Given the description of an element on the screen output the (x, y) to click on. 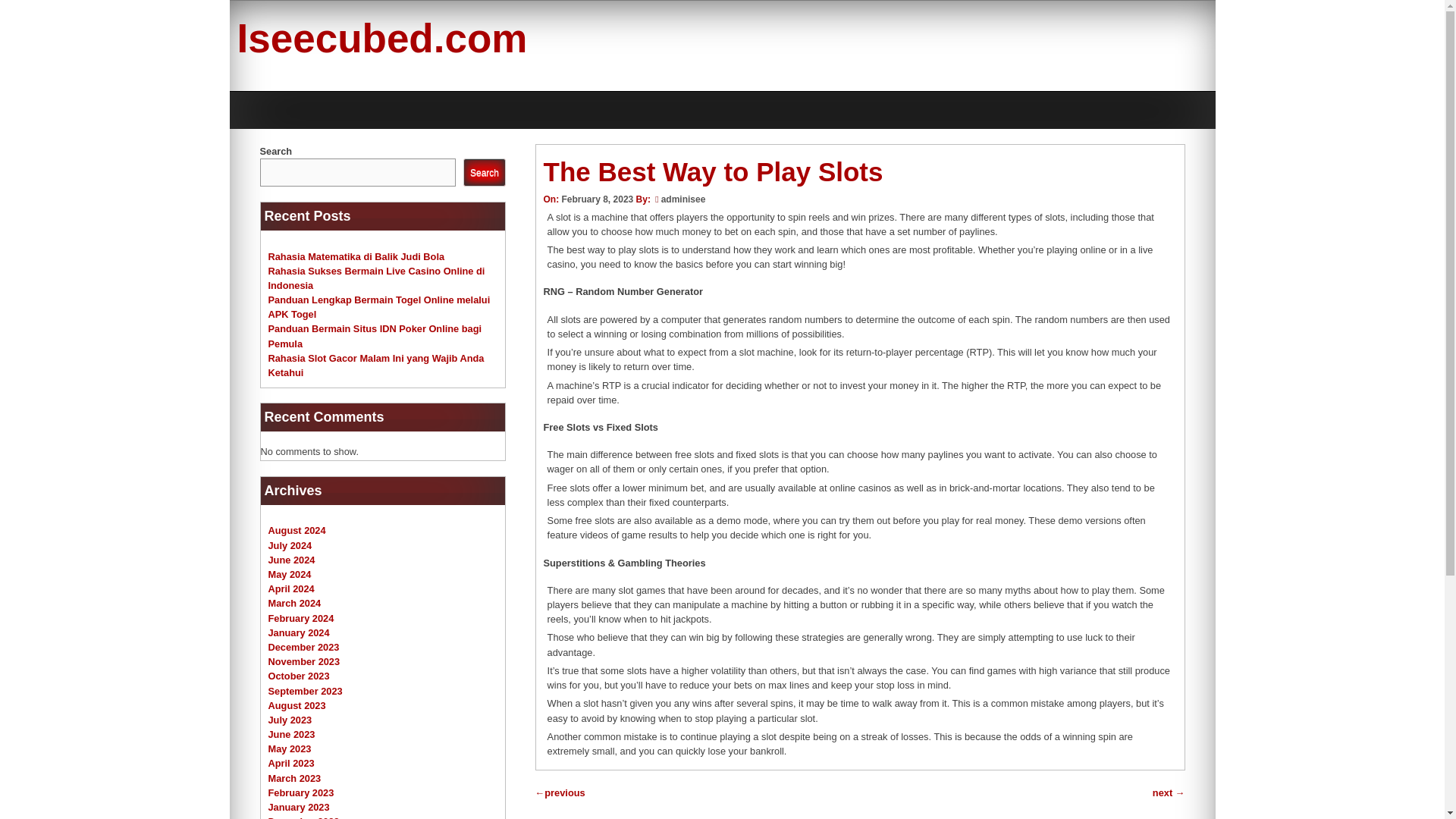
March 2023 (294, 778)
May 2023 (289, 748)
Panduan Bermain Situs IDN Poker Online bagi Pemula (374, 335)
Rahasia Slot Gacor Malam Ini yang Wajib Anda Ketahui (375, 365)
July 2024 (290, 545)
August 2023 (296, 705)
April 2023 (290, 763)
Search (484, 172)
August 2024 (296, 530)
April 2024 (290, 588)
